Given the description of an element on the screen output the (x, y) to click on. 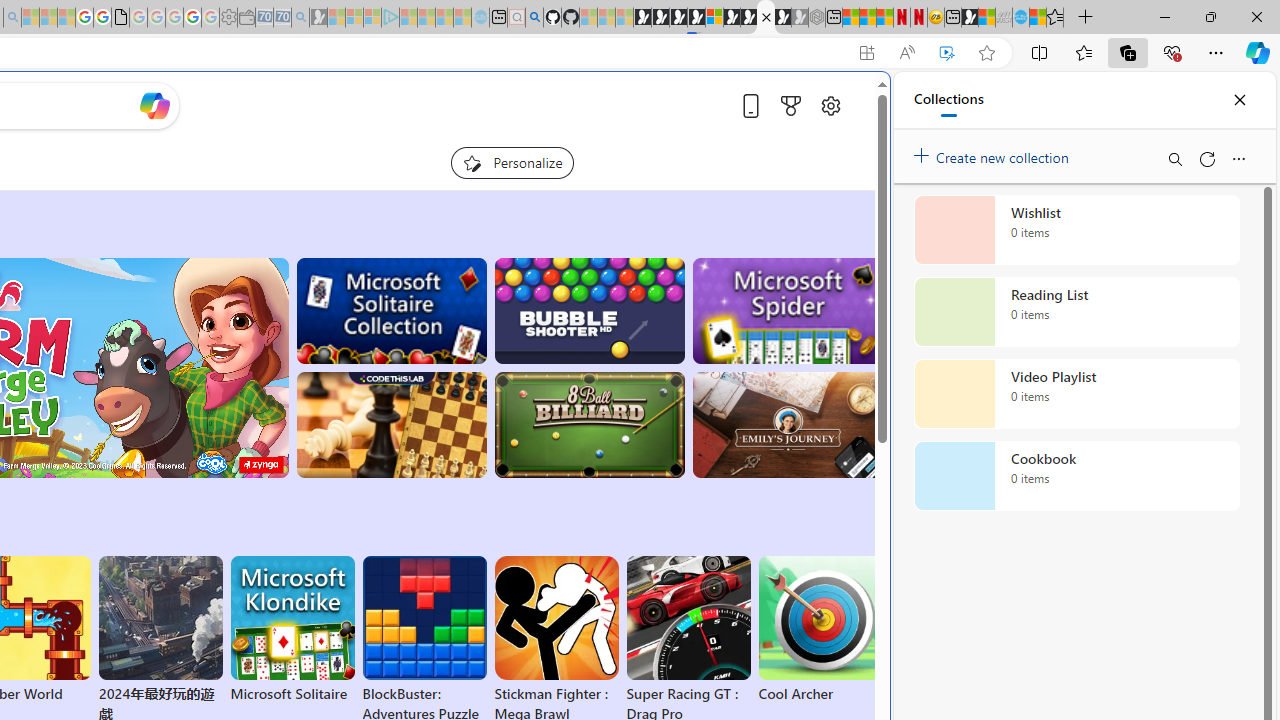
Microsoft Solitaire Collection (390, 310)
github - Search (534, 17)
Microsoft Spider Solitaire (787, 310)
